Given the description of an element on the screen output the (x, y) to click on. 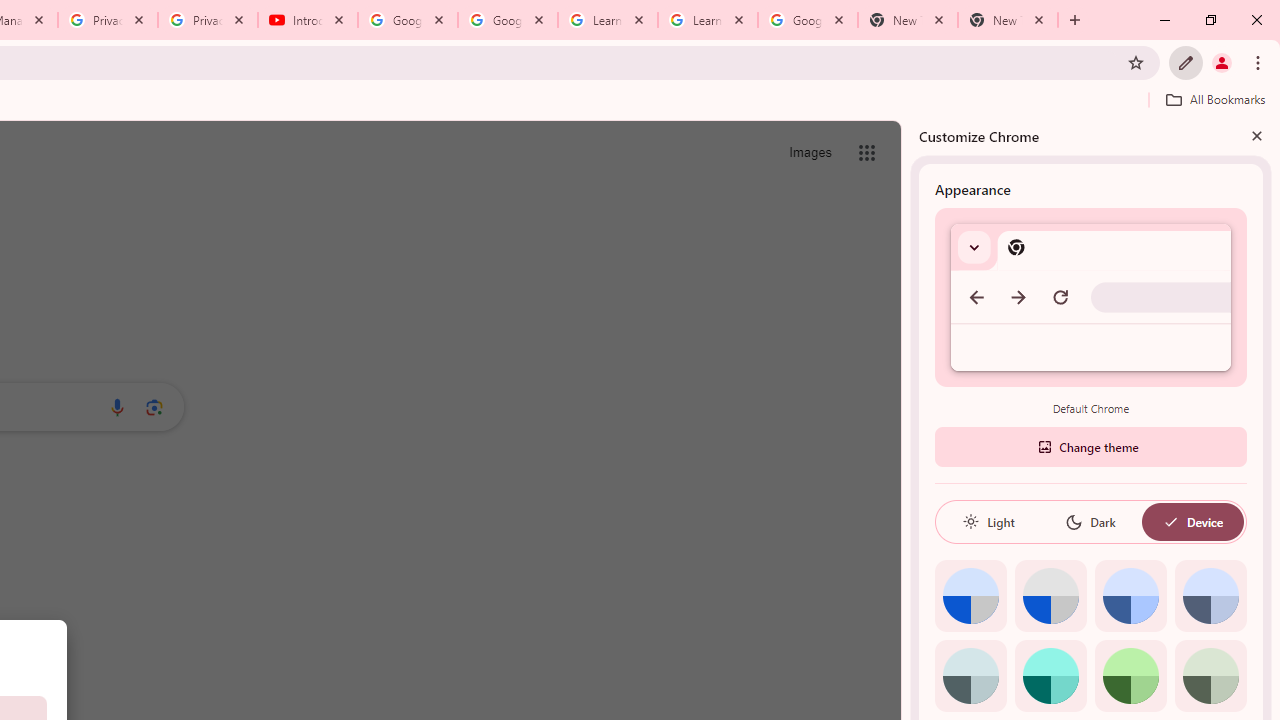
Change theme (1090, 446)
Introduction | Google Privacy Policy - YouTube (308, 20)
Google Account (807, 20)
AutomationID: baseSvg (1170, 521)
Light (988, 521)
Viridian (1210, 676)
Blue (1130, 596)
Grey default color (1050, 596)
Google Account Help (508, 20)
Cool grey (1210, 596)
